Given the description of an element on the screen output the (x, y) to click on. 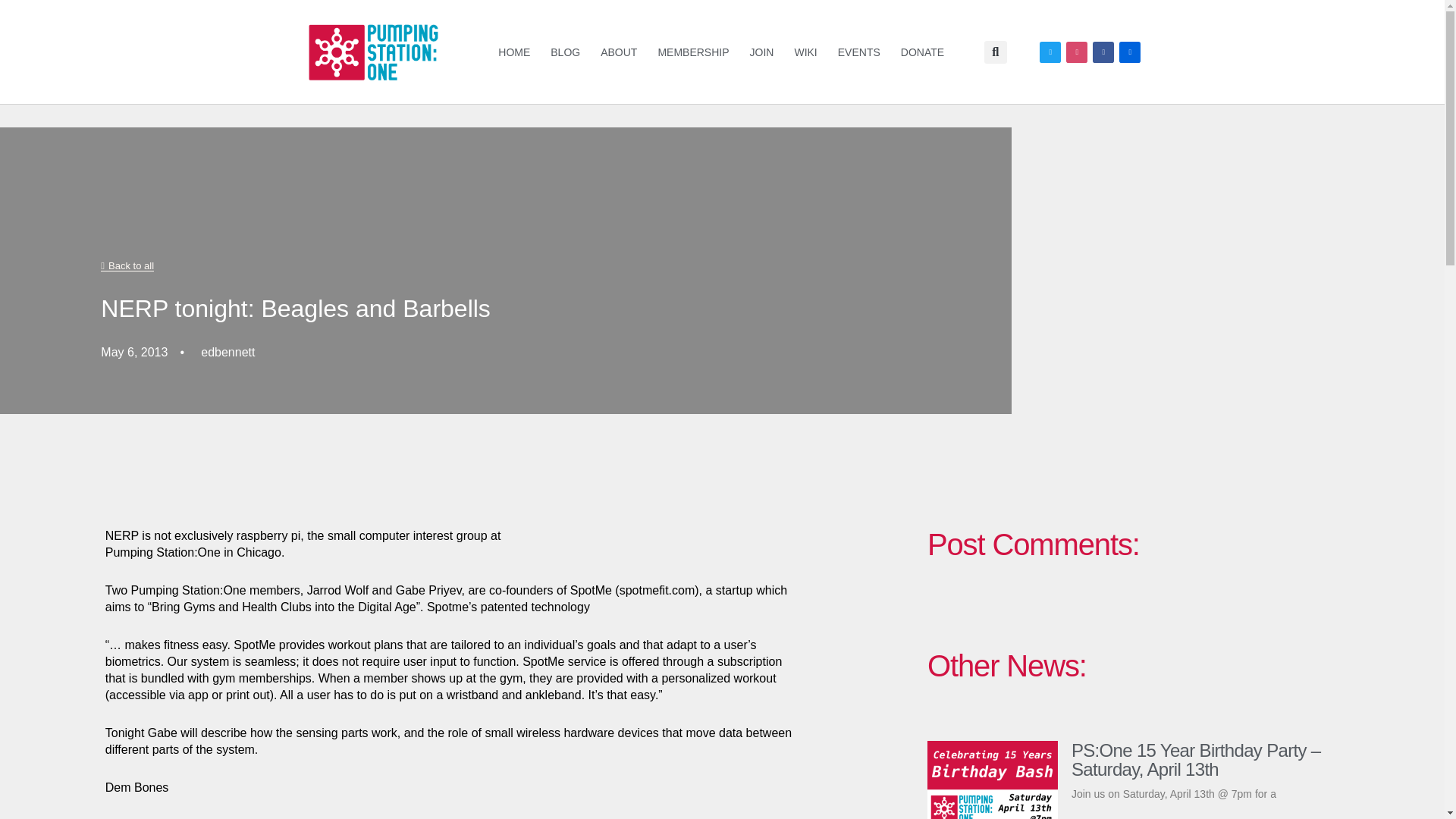
MEMBERSHIP (692, 51)
Instagram (1076, 52)
EVENTS (858, 51)
Flickr (1129, 52)
Twitter (1050, 52)
Facebook (1103, 52)
DONATE (922, 51)
